Given the description of an element on the screen output the (x, y) to click on. 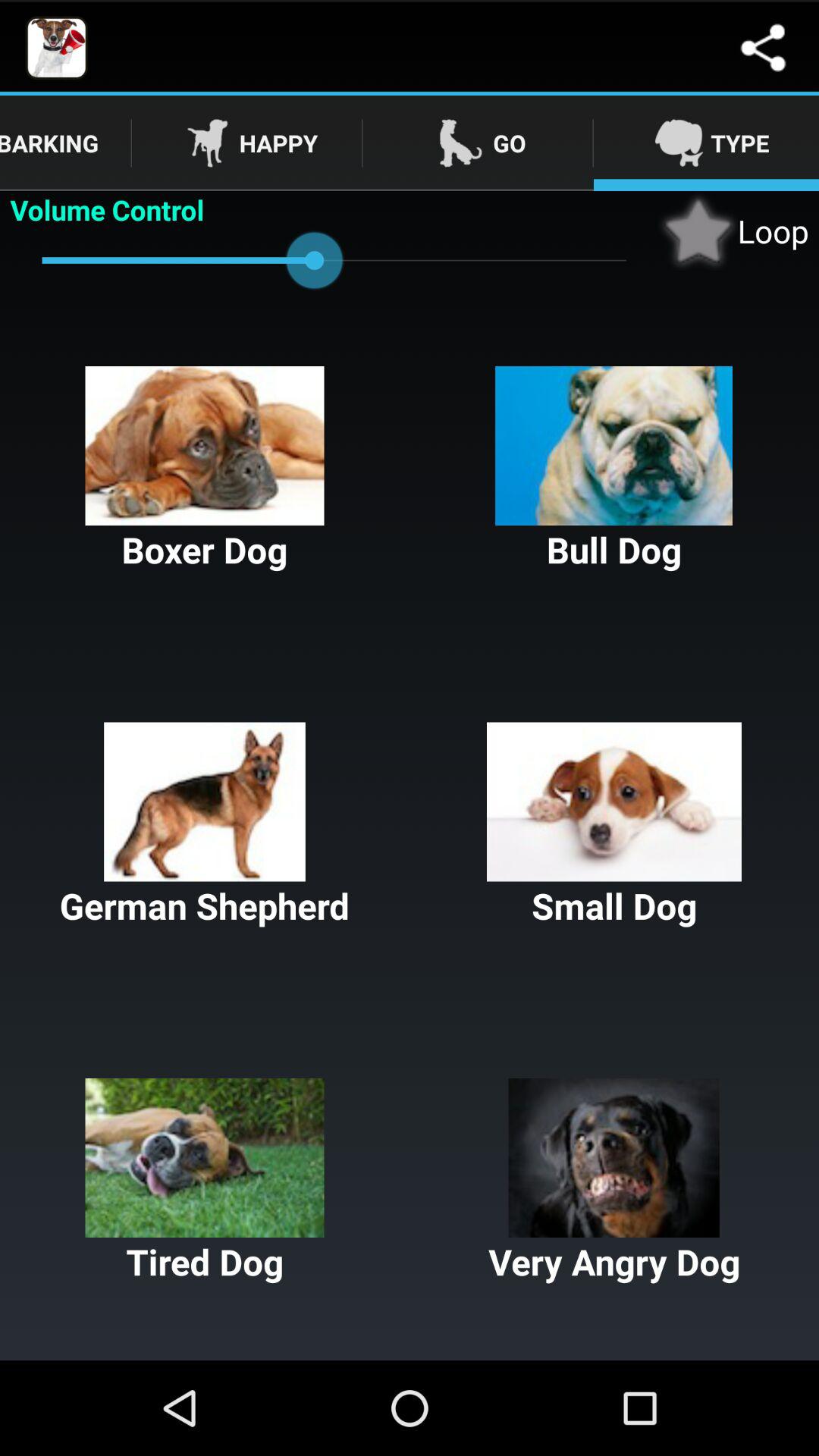
scroll to small dog icon (614, 825)
